Given the description of an element on the screen output the (x, y) to click on. 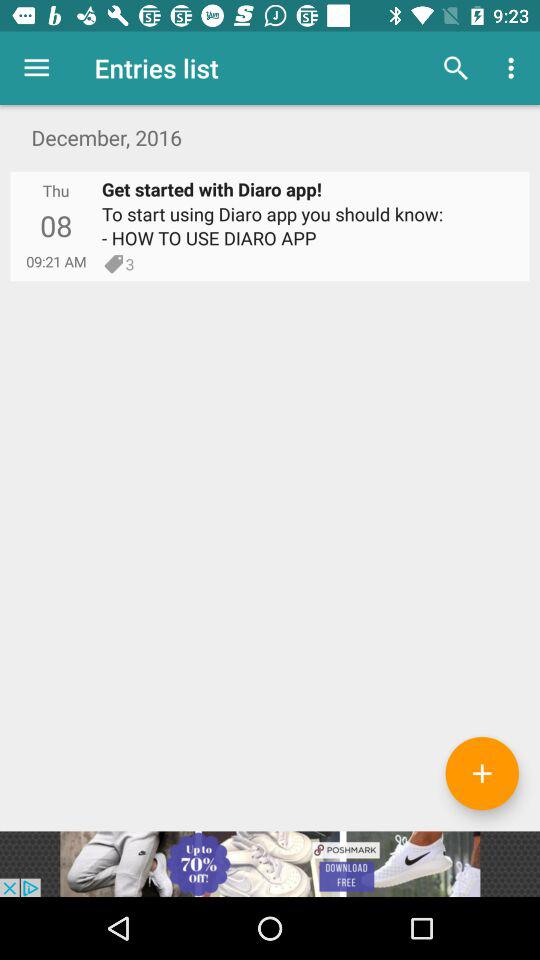
add a note (482, 773)
